Given the description of an element on the screen output the (x, y) to click on. 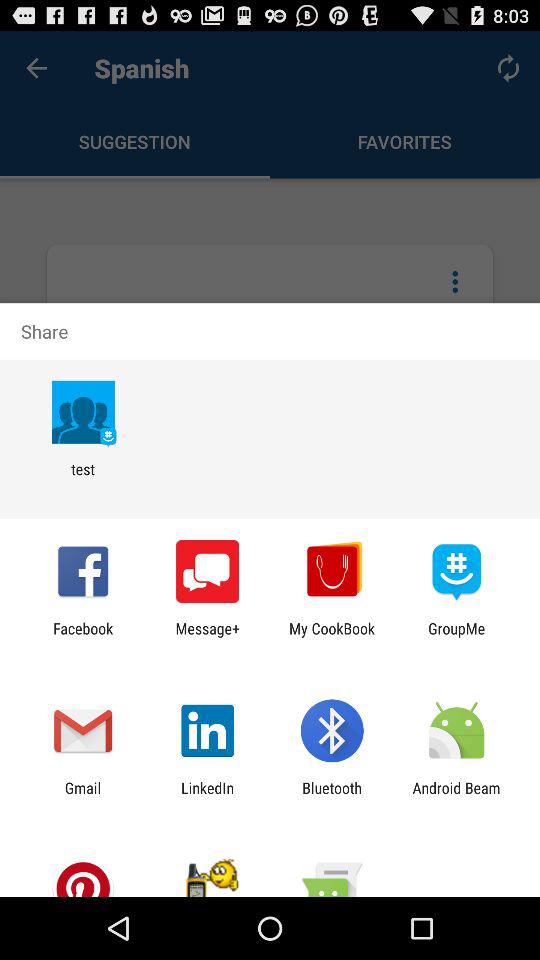
launch icon next to the android beam item (331, 796)
